Given the description of an element on the screen output the (x, y) to click on. 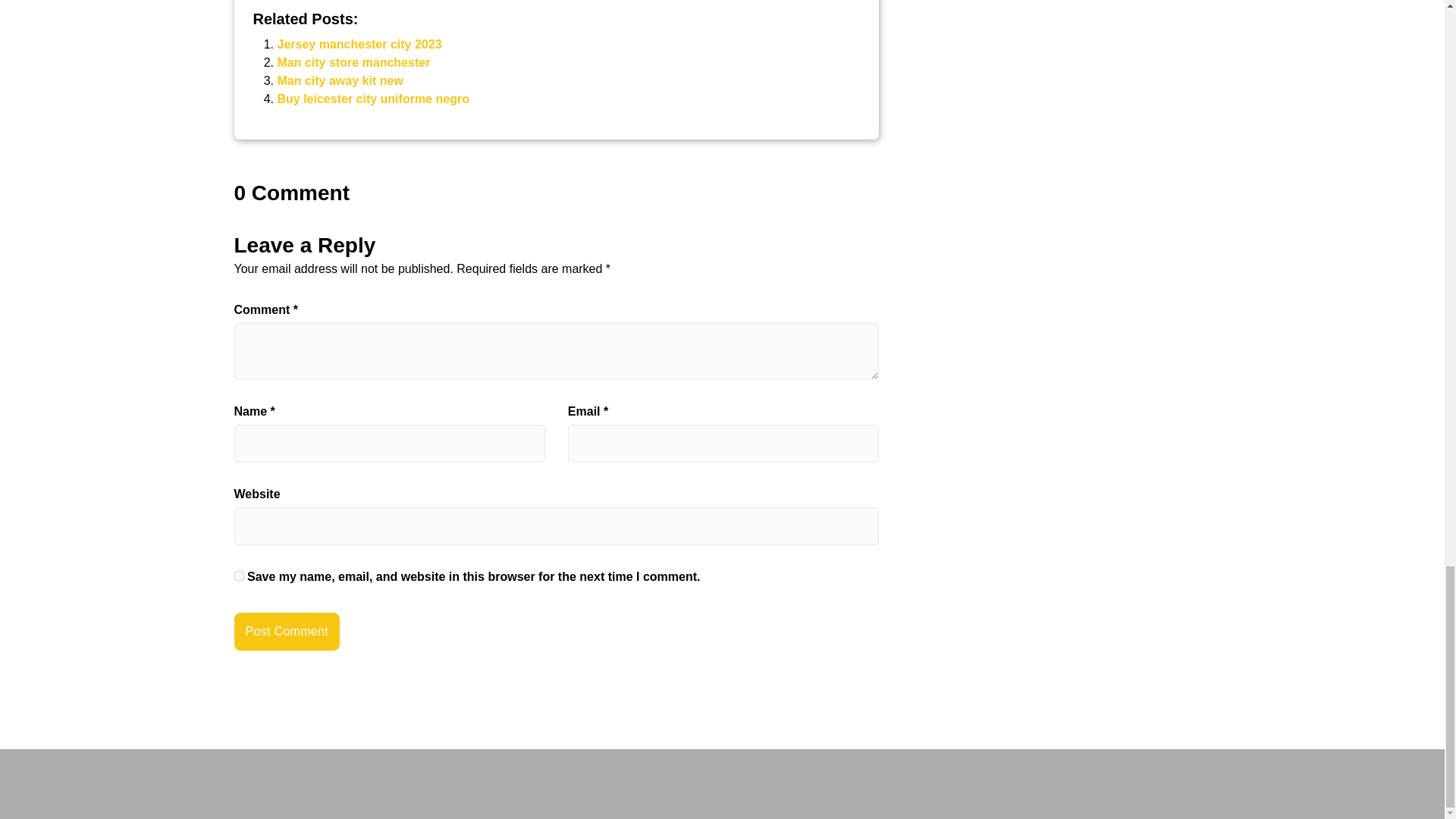
Jersey manchester city 2023 (360, 43)
Man city away kit new (340, 80)
Man city store manchester (354, 62)
Buy leicester city uniforme negro (373, 98)
yes (237, 575)
Jersey manchester city 2023 (360, 43)
Post Comment (285, 631)
Post Comment (285, 631)
Man city store manchester (354, 62)
Buy leicester city uniforme negro (373, 98)
Man city away kit new (340, 80)
